Given the description of an element on the screen output the (x, y) to click on. 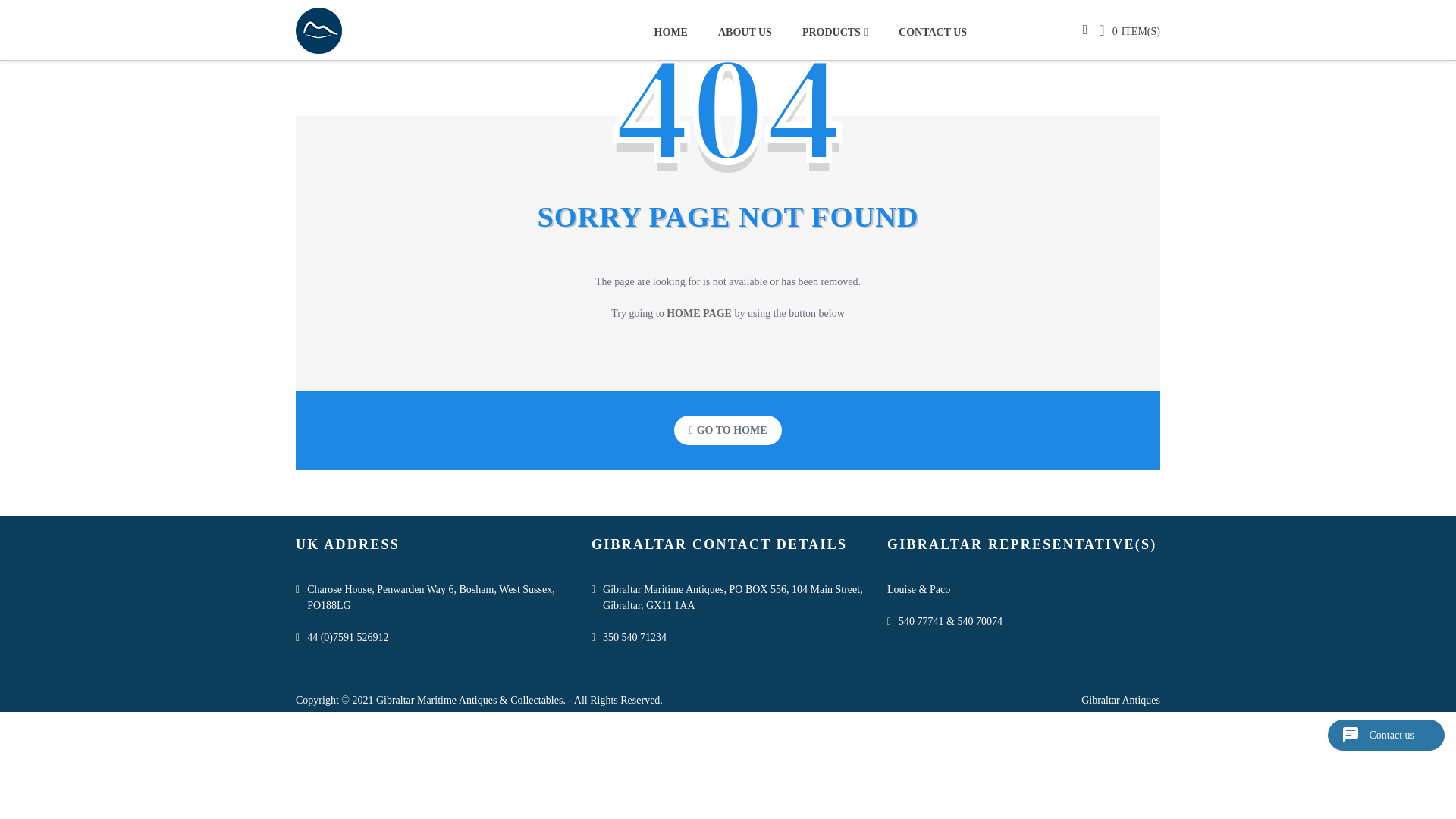
CONTACT US (924, 31)
ABOUT US (745, 31)
0 (1107, 29)
HOME PAGE (699, 313)
HOME (678, 31)
View cart (1107, 29)
PRODUCTS (835, 31)
GO TO HOME (728, 430)
